Given the description of an element on the screen output the (x, y) to click on. 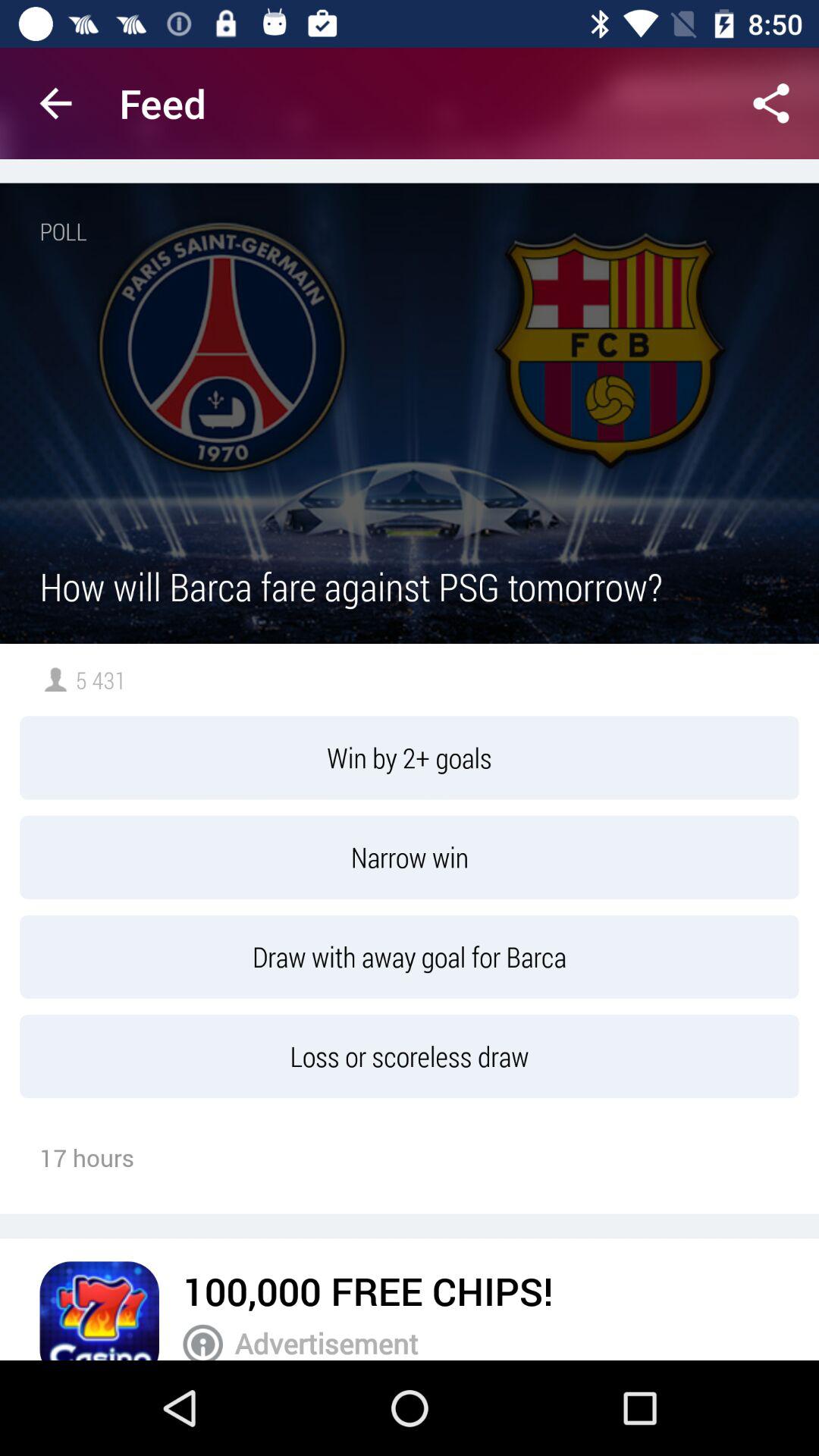
share on different platforms (771, 103)
